Given the description of an element on the screen output the (x, y) to click on. 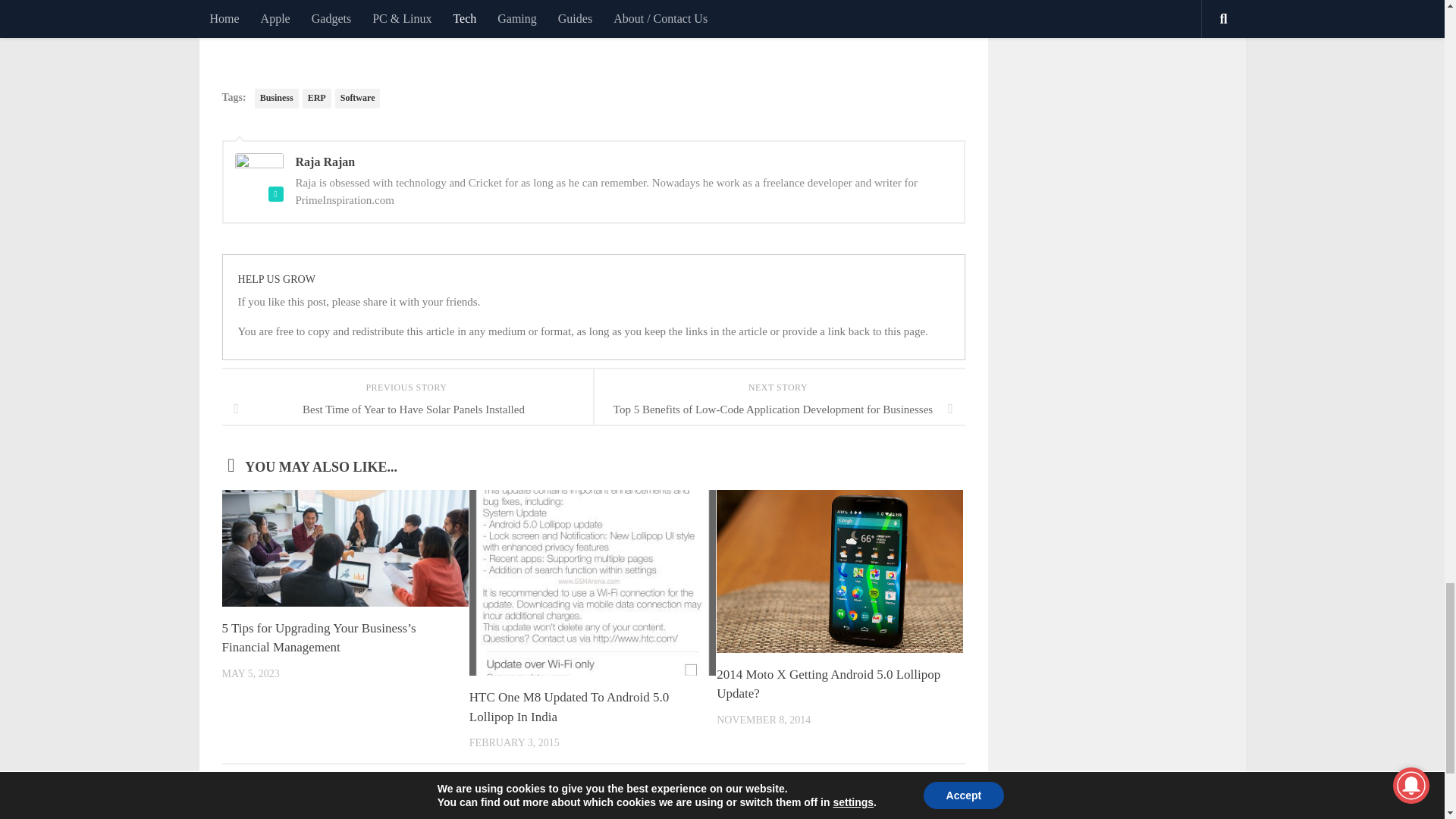
Facebook (239, 2)
Facebook (239, 2)
